Given the description of an element on the screen output the (x, y) to click on. 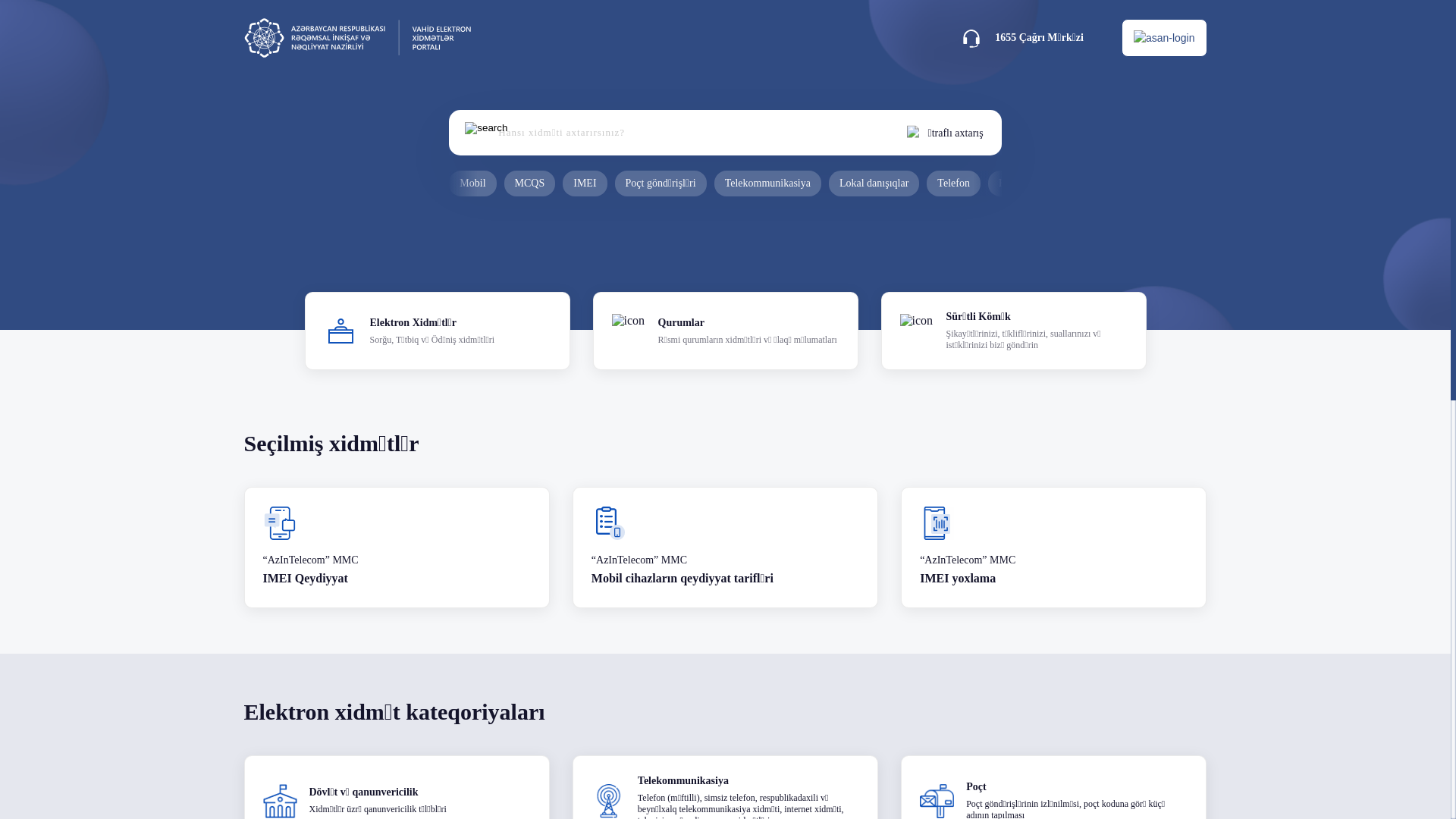
Telekommunikasiya Element type: text (767, 182)
Mobil Element type: text (472, 182)
IMEI Element type: text (584, 182)
Telefon Element type: text (953, 182)
MCQS Element type: text (529, 182)
